Given the description of an element on the screen output the (x, y) to click on. 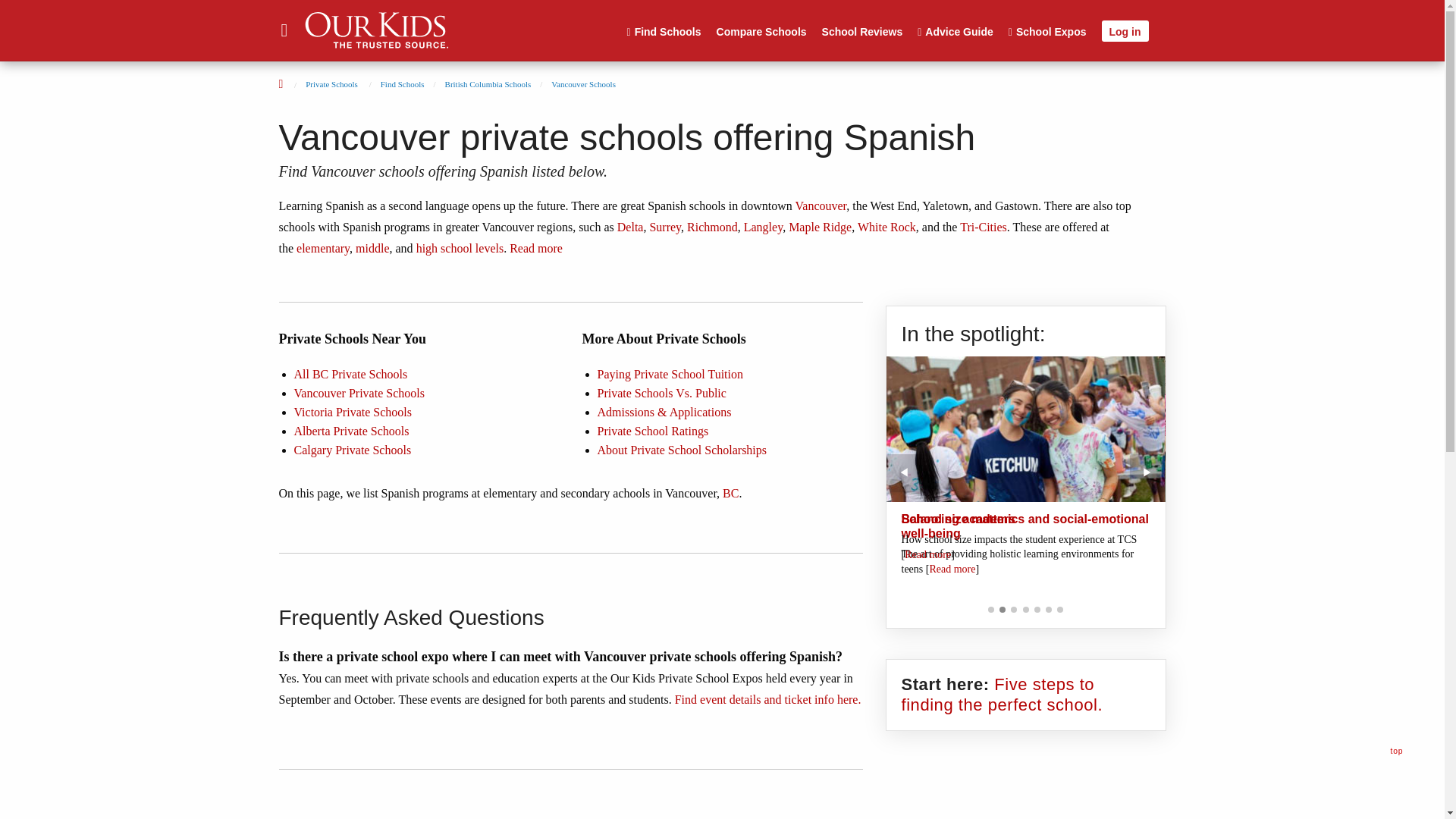
Find Schools (663, 31)
